Given the description of an element on the screen output the (x, y) to click on. 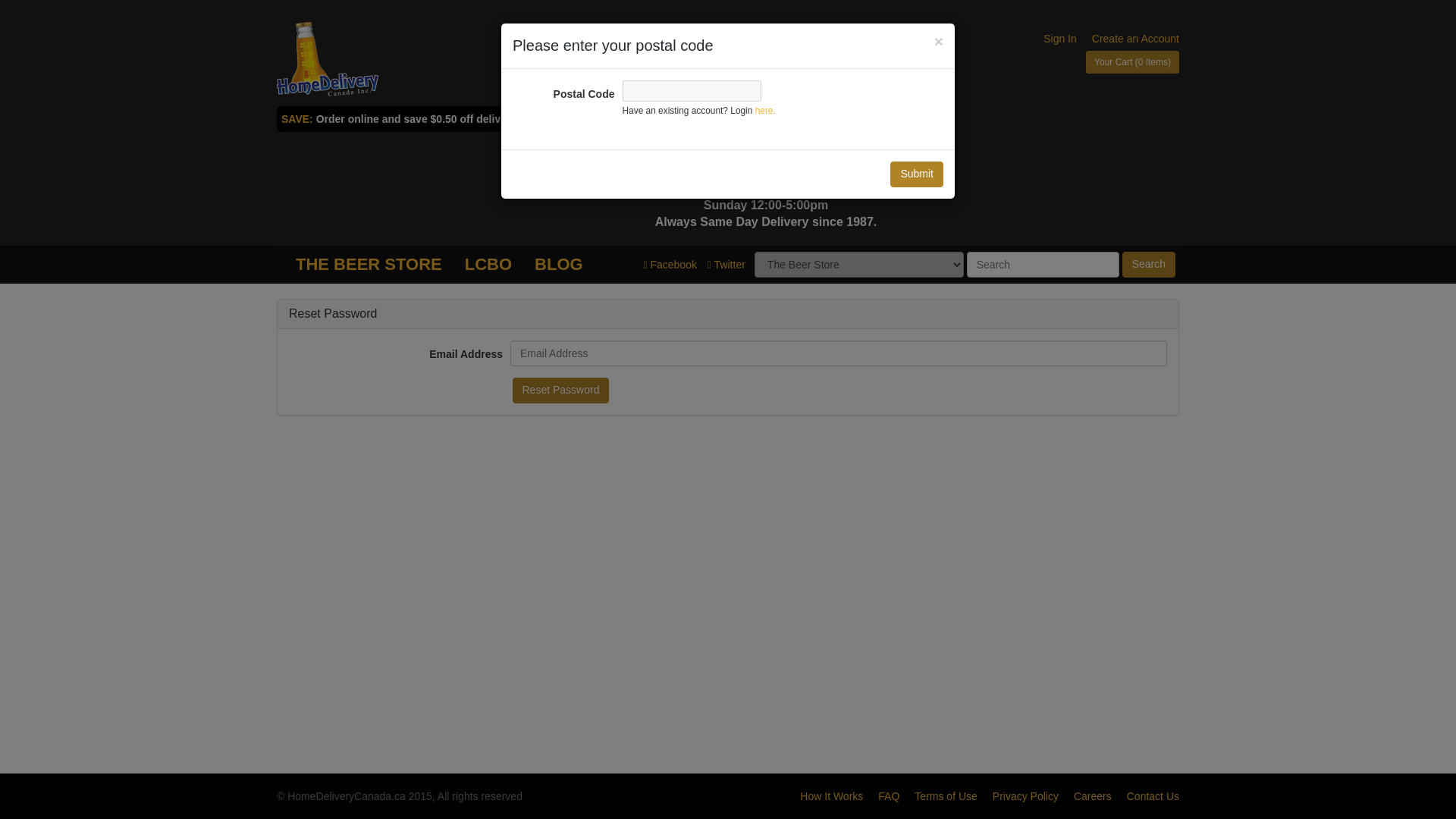
Submit (916, 174)
Search (1148, 264)
Reset Password (561, 390)
THE BEER STORE (367, 264)
LCBO (487, 264)
Facebook (670, 264)
Sign In (1060, 38)
BLOG (558, 264)
Create an Account (1135, 38)
here. (765, 110)
Twitter (726, 264)
